Given the description of an element on the screen output the (x, y) to click on. 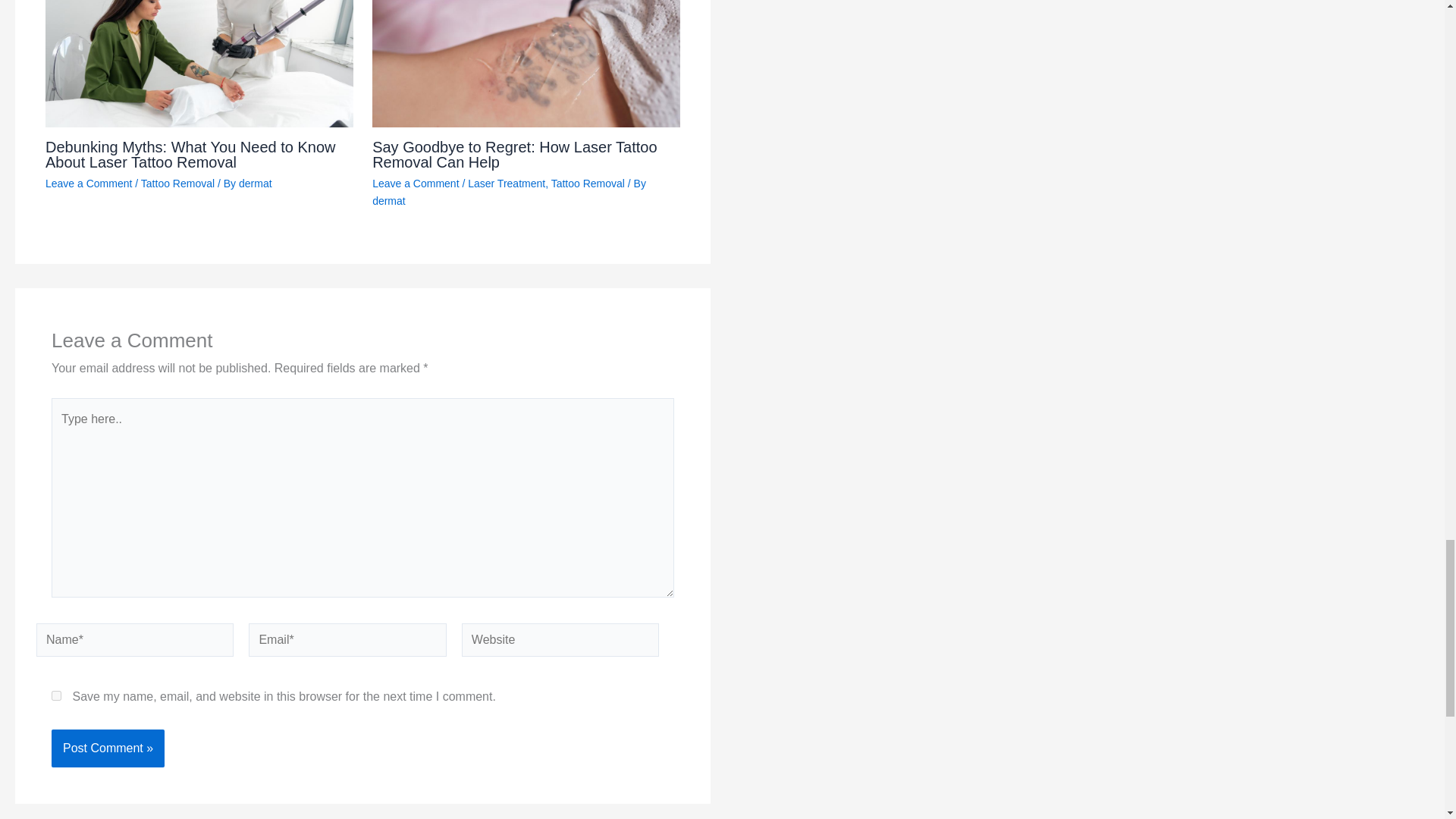
Tattoo Removal (587, 183)
Laser Treatment (505, 183)
dermat (255, 183)
Tattoo Removal (177, 183)
View all posts by dermat (389, 200)
Leave a Comment (88, 183)
dermat (389, 200)
Leave a Comment (415, 183)
View all posts by dermat (255, 183)
Say Goodbye to Regret: How Laser Tattoo Removal Can Help (514, 154)
yes (55, 696)
